Given the description of an element on the screen output the (x, y) to click on. 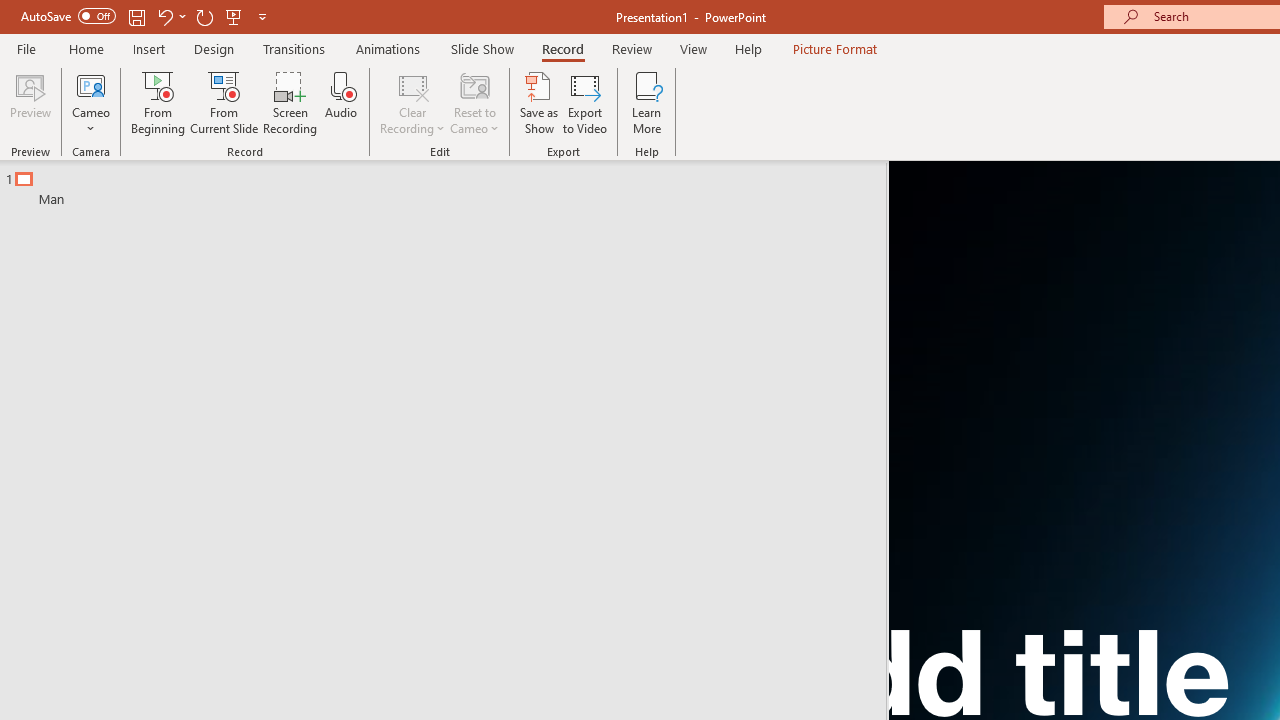
Export to Video (585, 102)
Audio (341, 102)
